Given the description of an element on the screen output the (x, y) to click on. 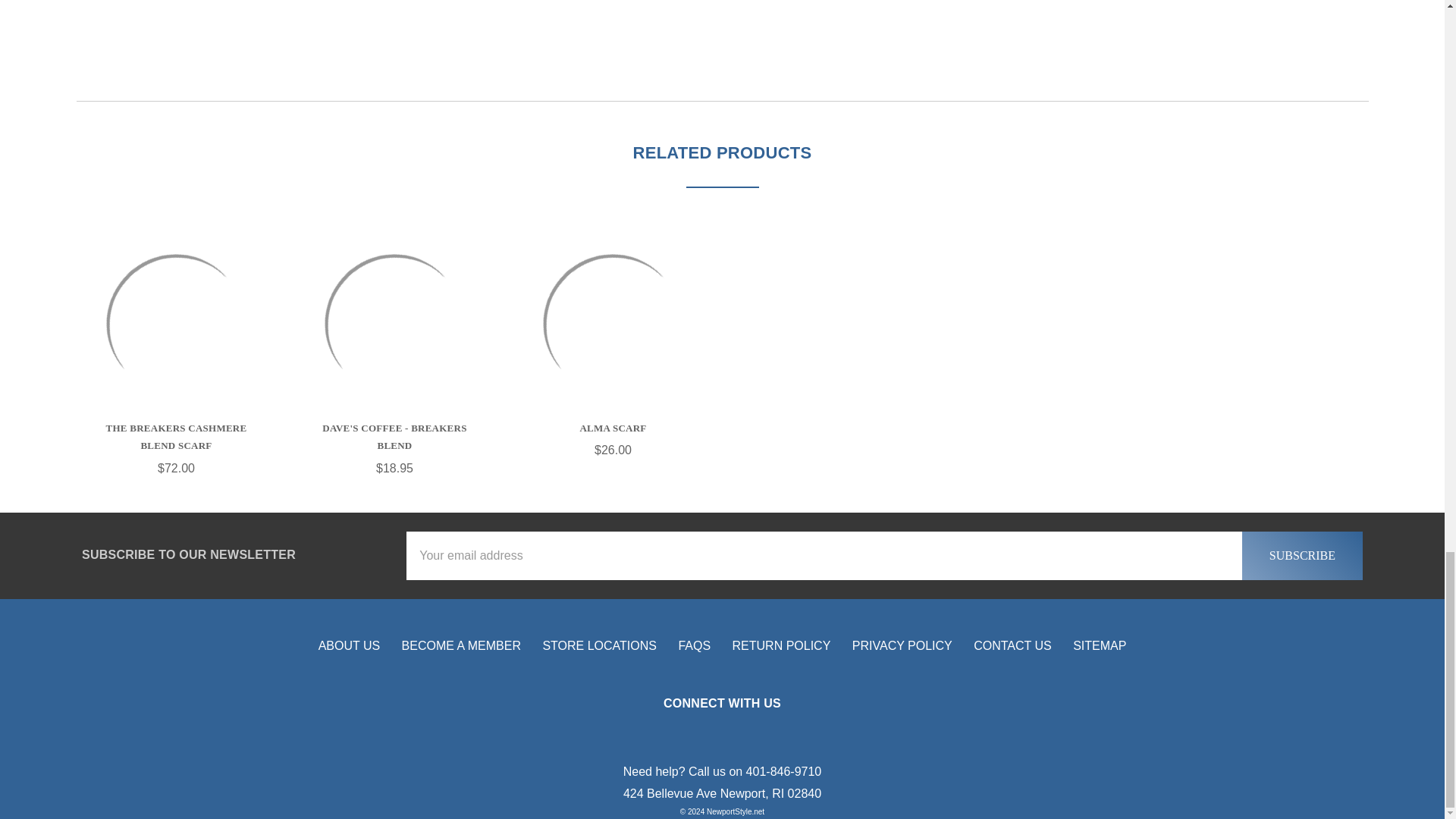
Custom Breakers Cashmere Blend Scarf (176, 324)
Alma Scarf (612, 324)
Dave's Coffee Breaker's Blend (394, 324)
Subscribe (1301, 555)
